Given the description of an element on the screen output the (x, y) to click on. 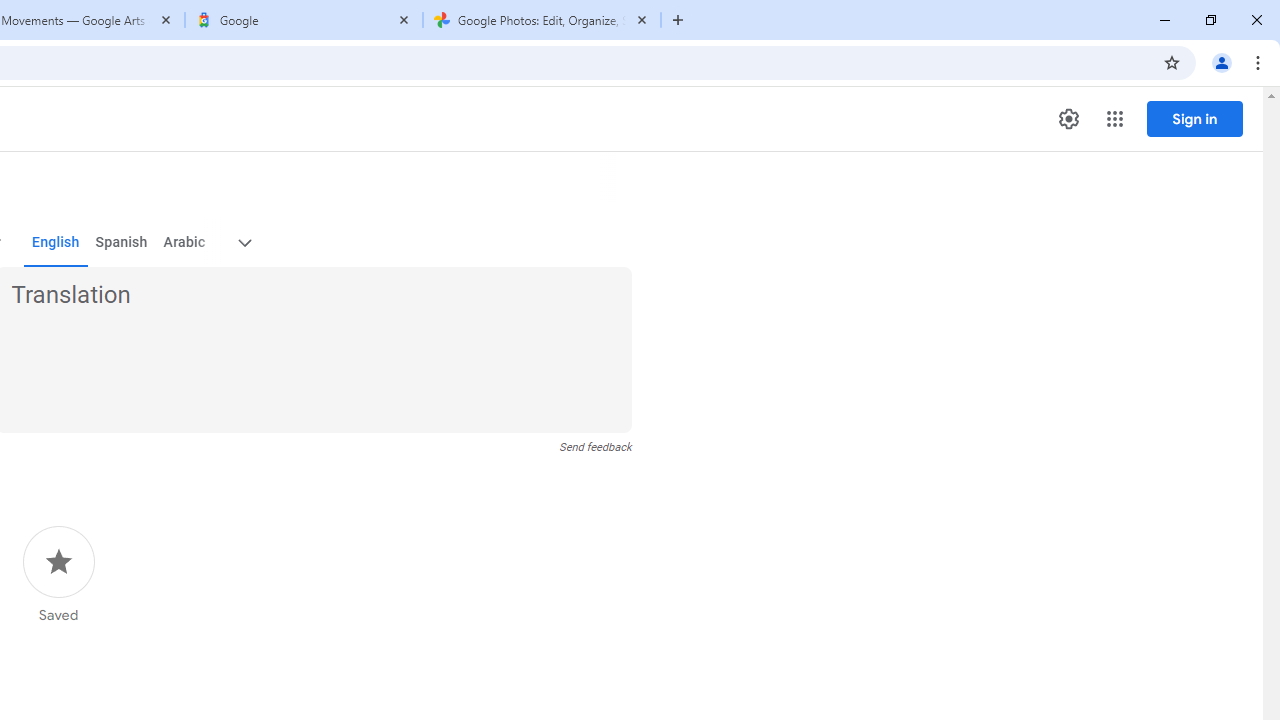
English (55, 242)
